Given the description of an element on the screen output the (x, y) to click on. 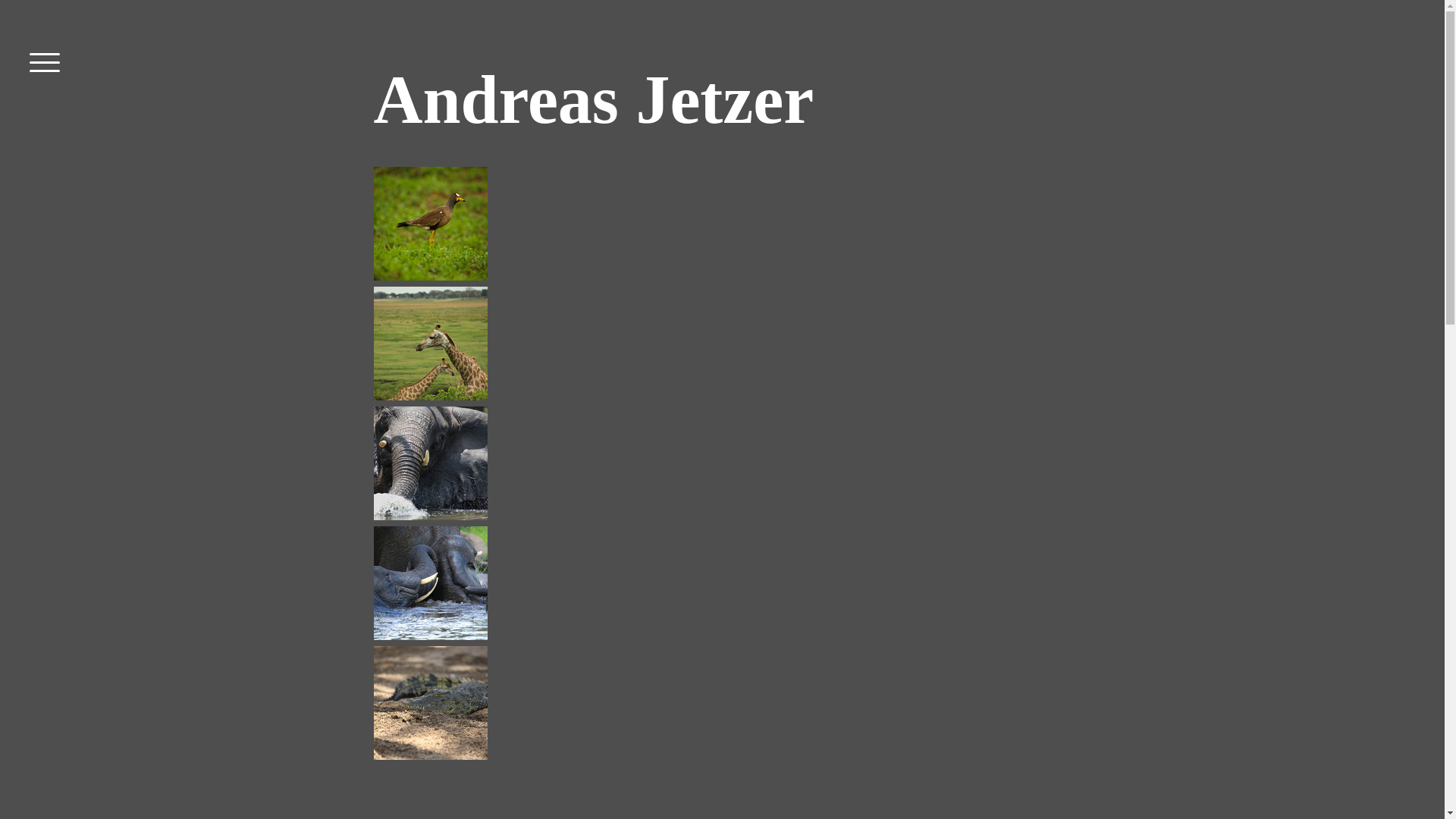
Andreas Jetzer Element type: text (593, 118)
